Given the description of an element on the screen output the (x, y) to click on. 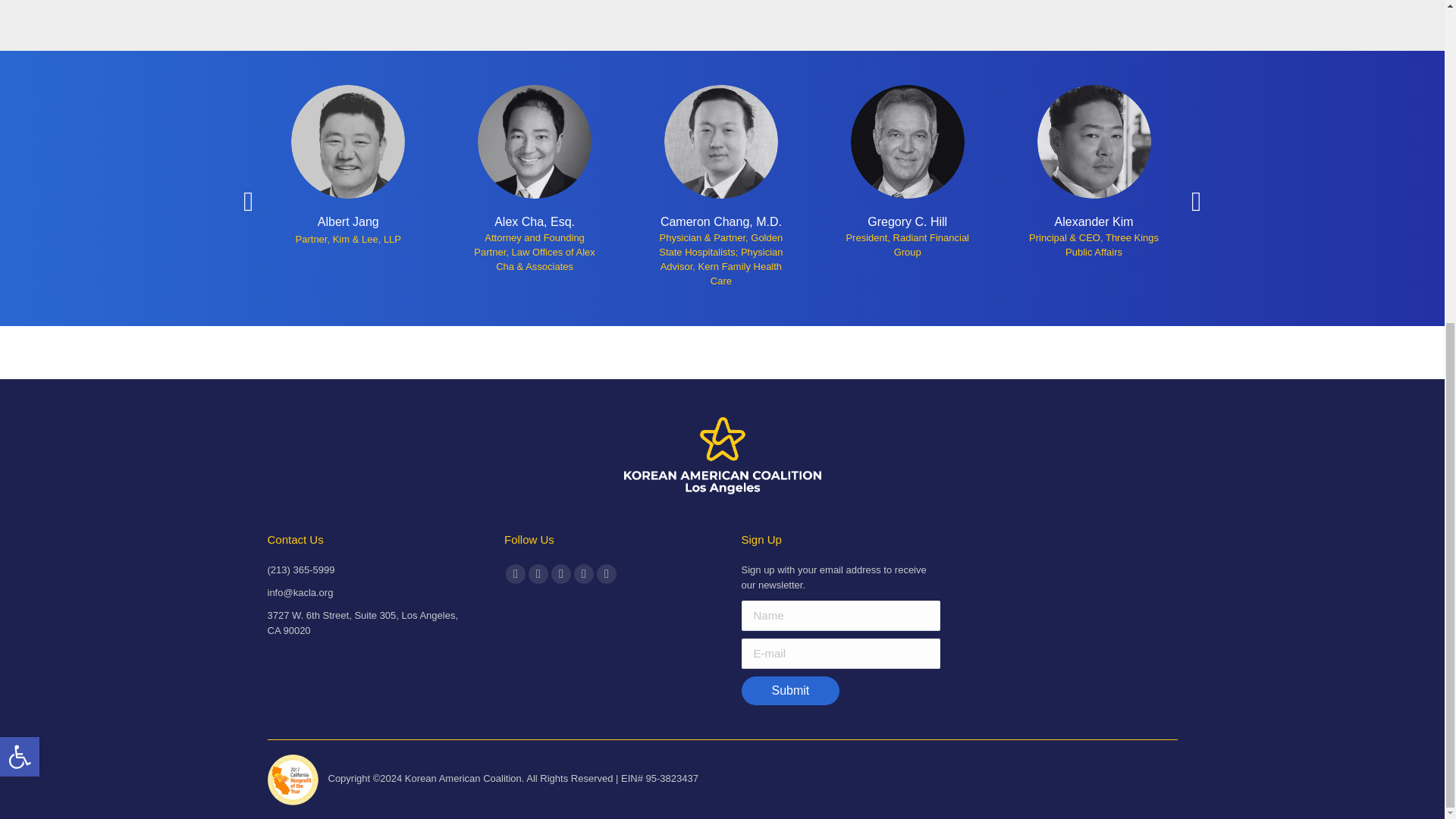
Facebook page opens in new window (515, 573)
Accessibility Tools (19, 230)
YouTube page opens in new window (560, 573)
submit (896, 692)
Light Background (19, 230)
